Given the description of an element on the screen output the (x, y) to click on. 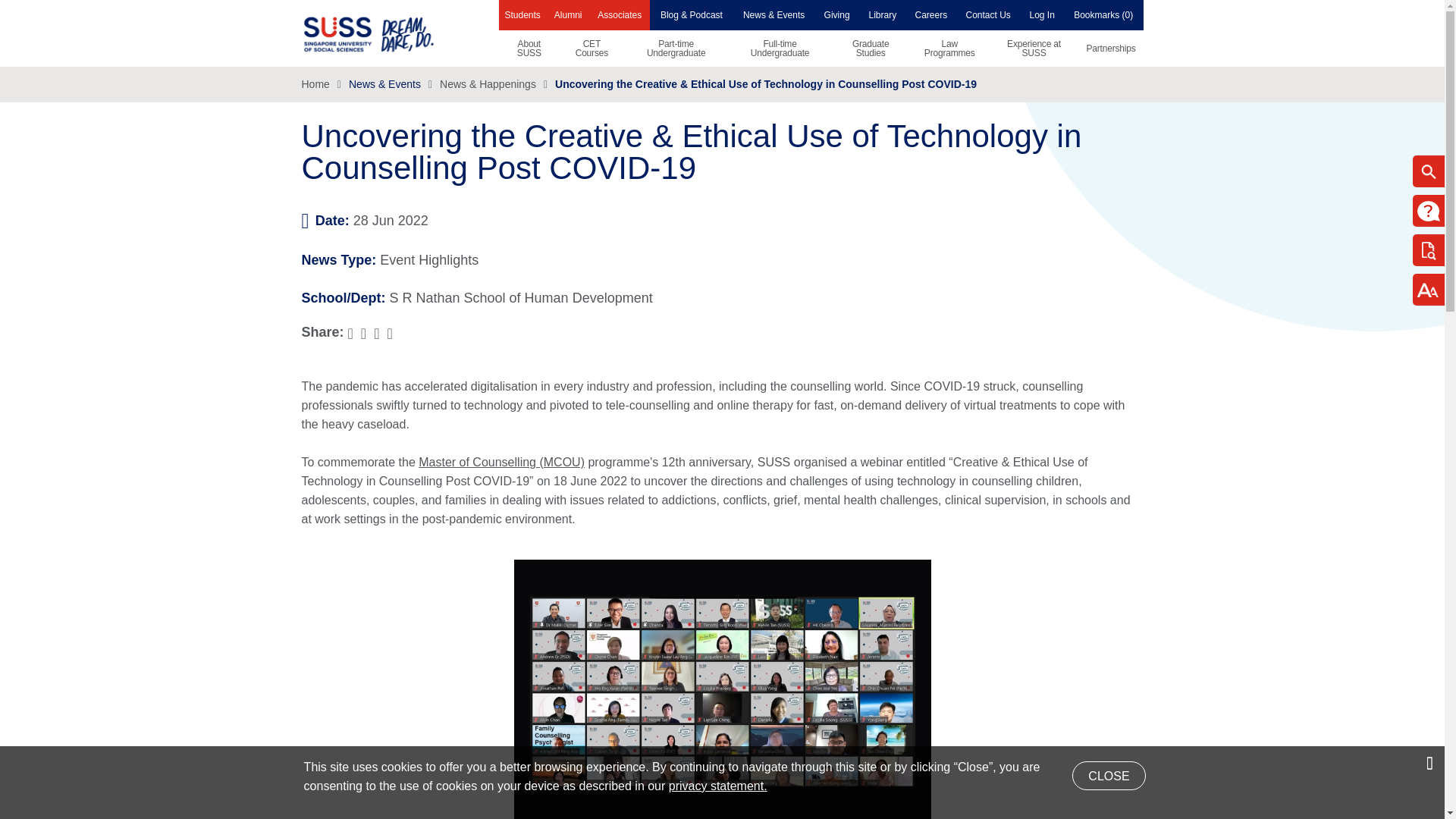
About SUSS (529, 48)
About SUSS (529, 48)
Singapore University of Social Sciences (394, 33)
